Given the description of an element on the screen output the (x, y) to click on. 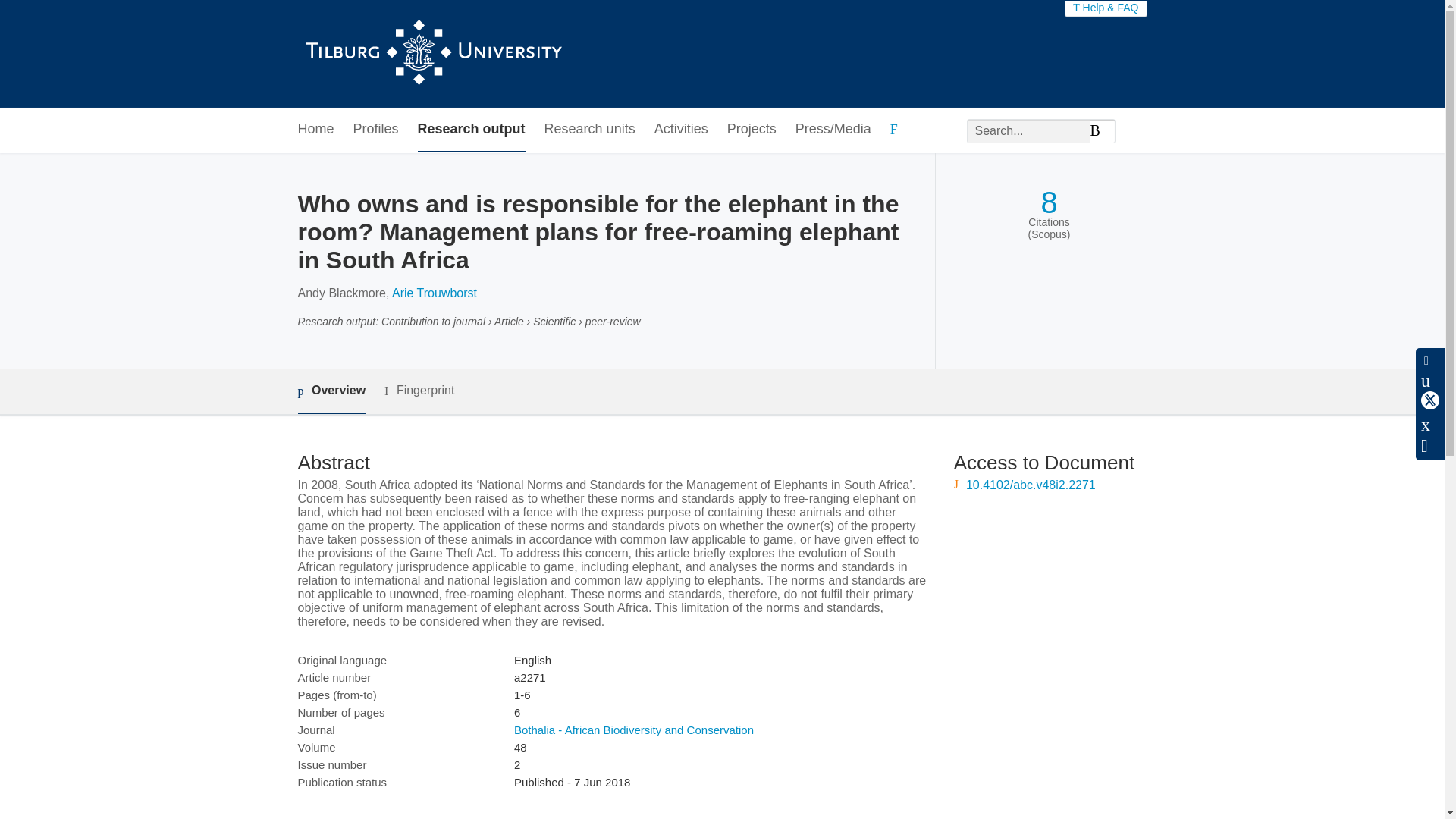
Research units (589, 129)
Activities (680, 129)
Projects (751, 129)
Bothalia - African Biodiversity and Conservation (633, 729)
Arie Trouwborst (434, 292)
Overview (331, 391)
Research output (471, 129)
Tilburg University Research Portal Home (433, 53)
Fingerprint (419, 390)
Profiles (375, 129)
